Given the description of an element on the screen output the (x, y) to click on. 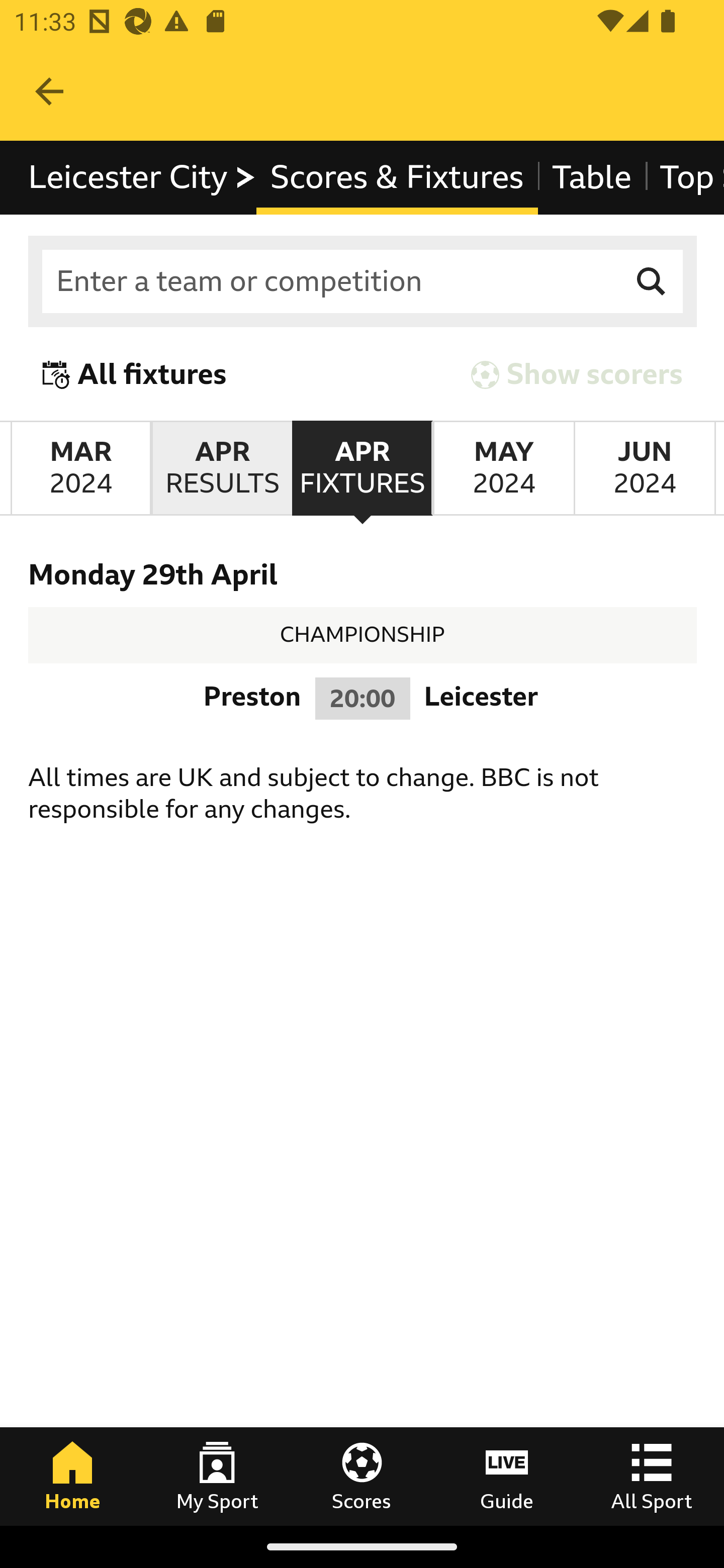
Navigate up (49, 91)
Leicester City  (142, 177)
Scores & Fixtures (396, 177)
Table (591, 177)
Top Scorers (684, 177)
Search (651, 282)
All fixtures (134, 374)
Show scorers (576, 374)
March2024 March 2024 (80, 468)
AprilRESULTS April RESULTS (221, 468)
AprilFIXTURES, Selected April FIXTURES , Selected (361, 468)
May2024 May 2024 (502, 468)
June2024 June 2024 (644, 468)
My Sport (216, 1475)
Scores (361, 1475)
Guide (506, 1475)
All Sport (651, 1475)
